Given the description of an element on the screen output the (x, y) to click on. 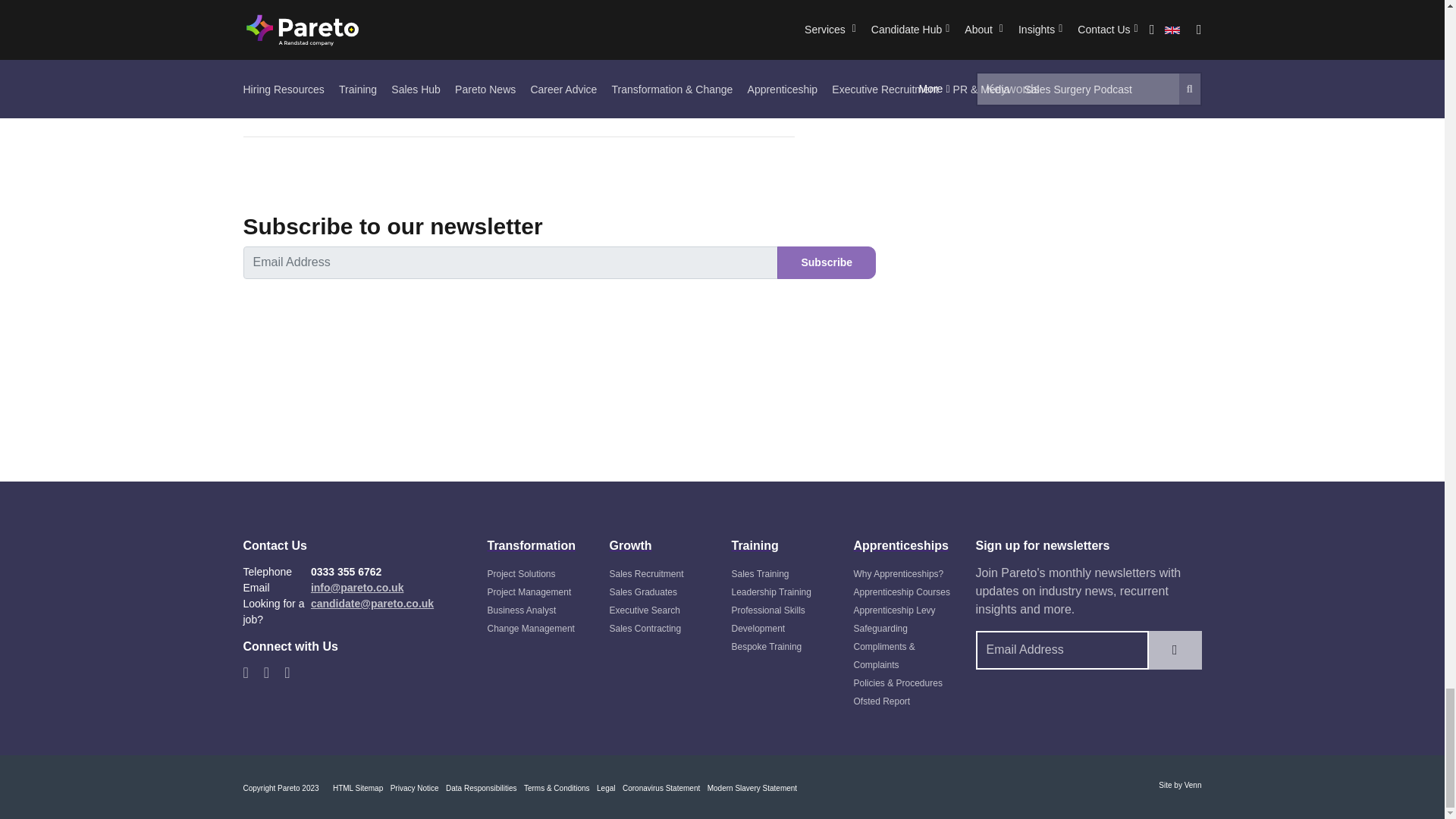
Subscribe (826, 262)
